Given the description of an element on the screen output the (x, y) to click on. 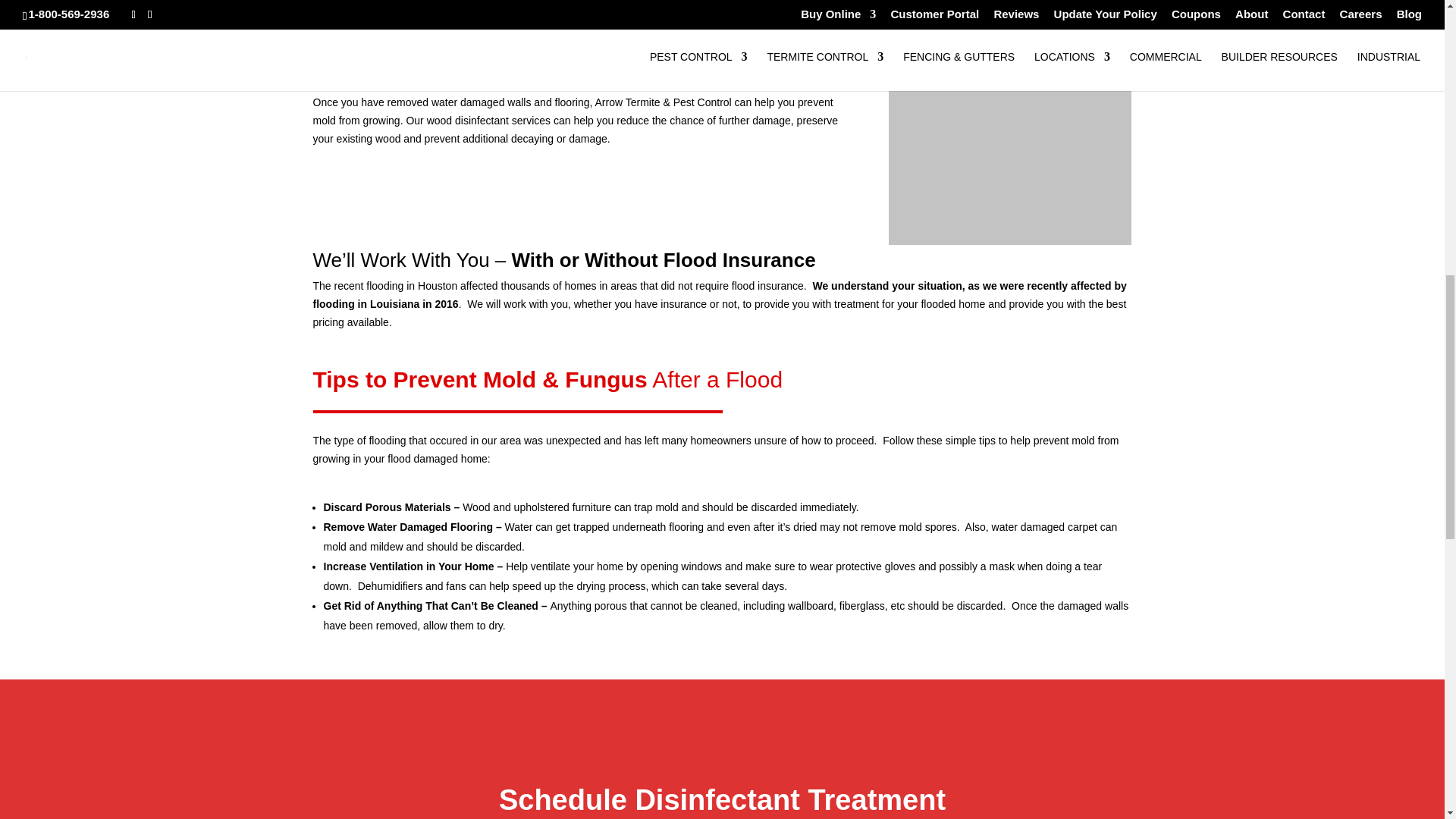
wood decay flood treatment (1009, 123)
